Given the description of an element on the screen output the (x, y) to click on. 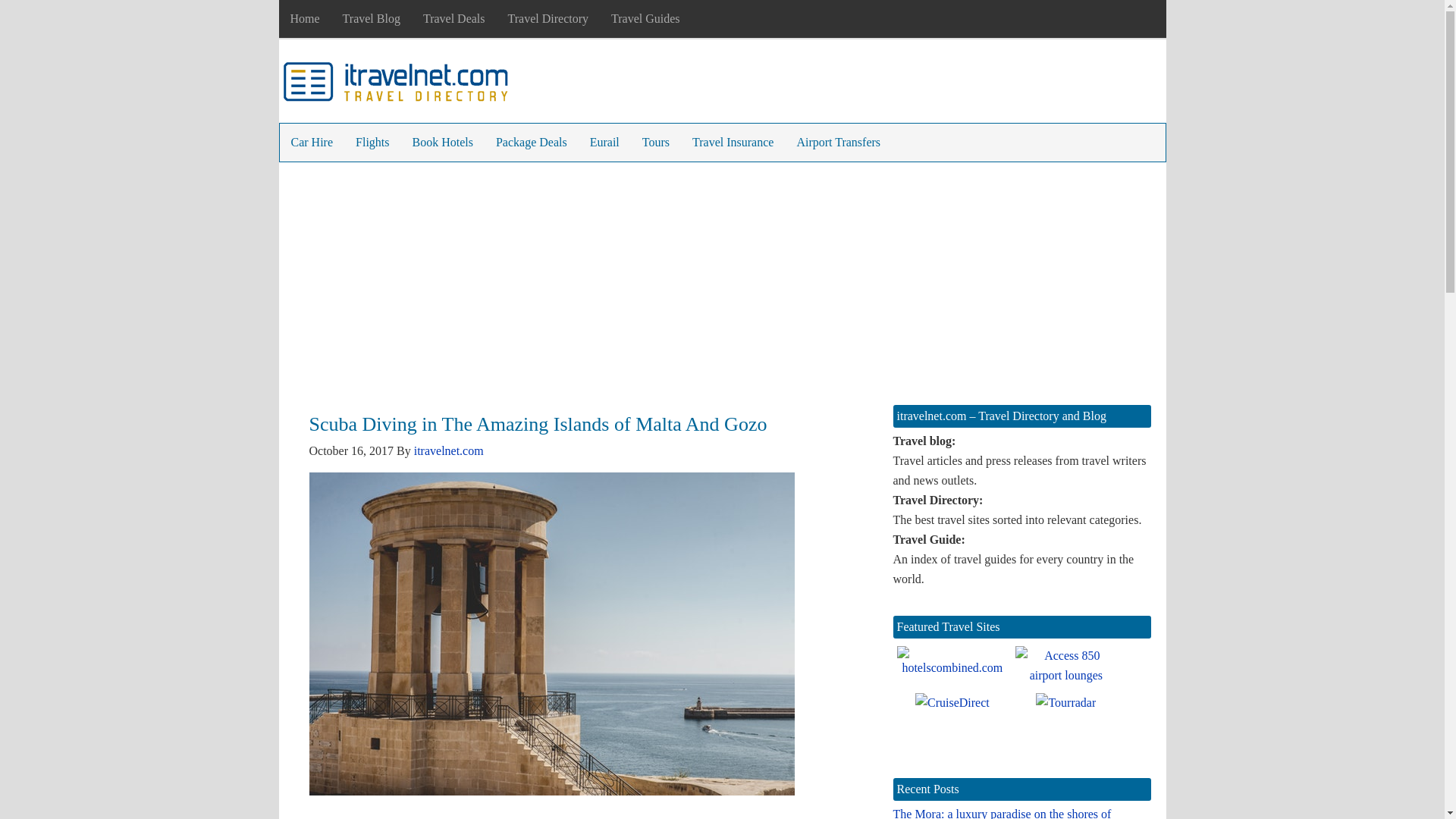
Package Deals (531, 142)
Travel Insurance (732, 142)
itravelnet.com (396, 84)
Airport Transfers (837, 142)
Home (305, 18)
itravelnet.com (448, 450)
Tours (655, 142)
The Mora: a luxury paradise on the shores of Zanzibar (1002, 813)
Car Hire (311, 142)
